Given the description of an element on the screen output the (x, y) to click on. 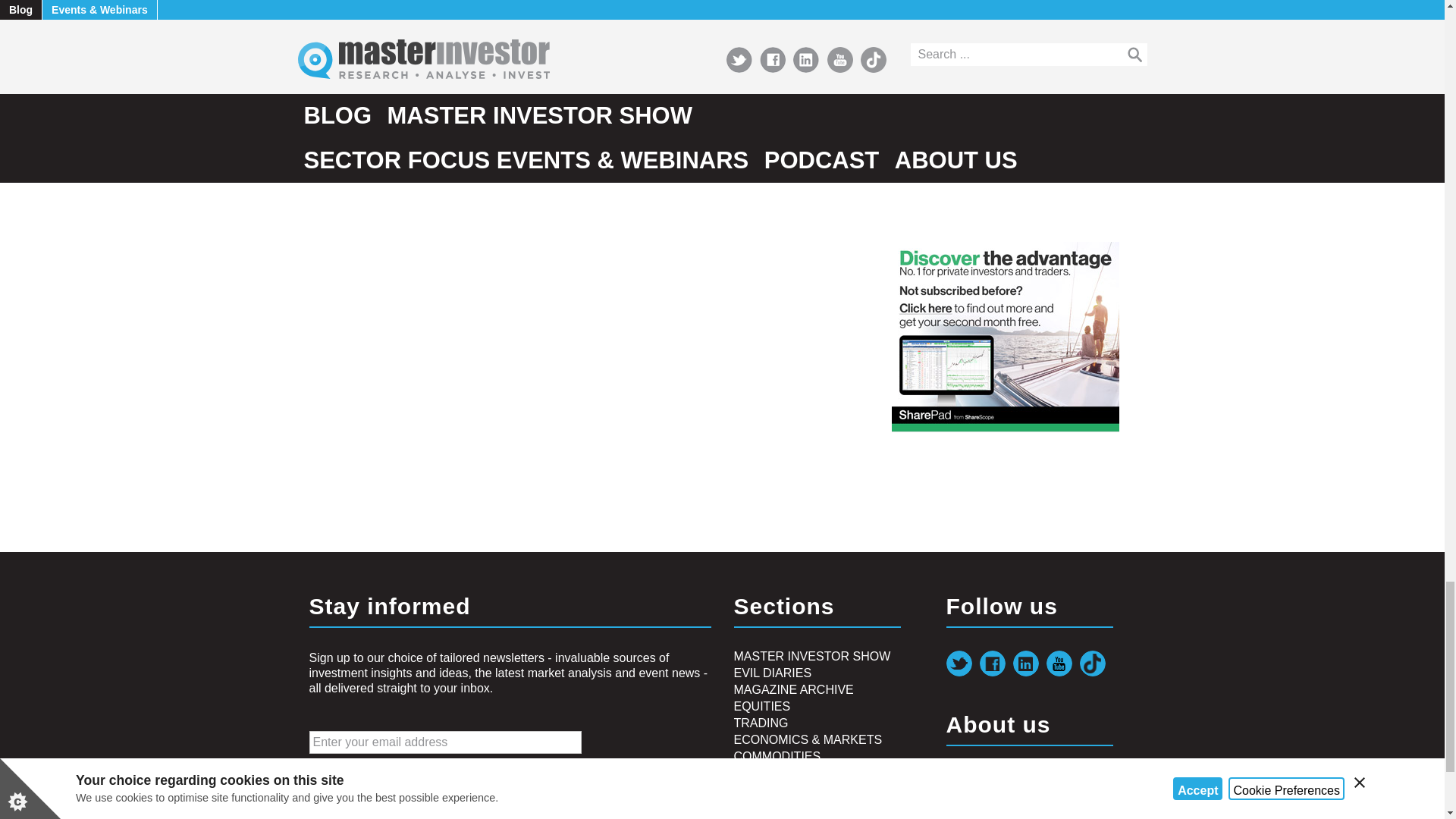
Sign up (341, 784)
